Given the description of an element on the screen output the (x, y) to click on. 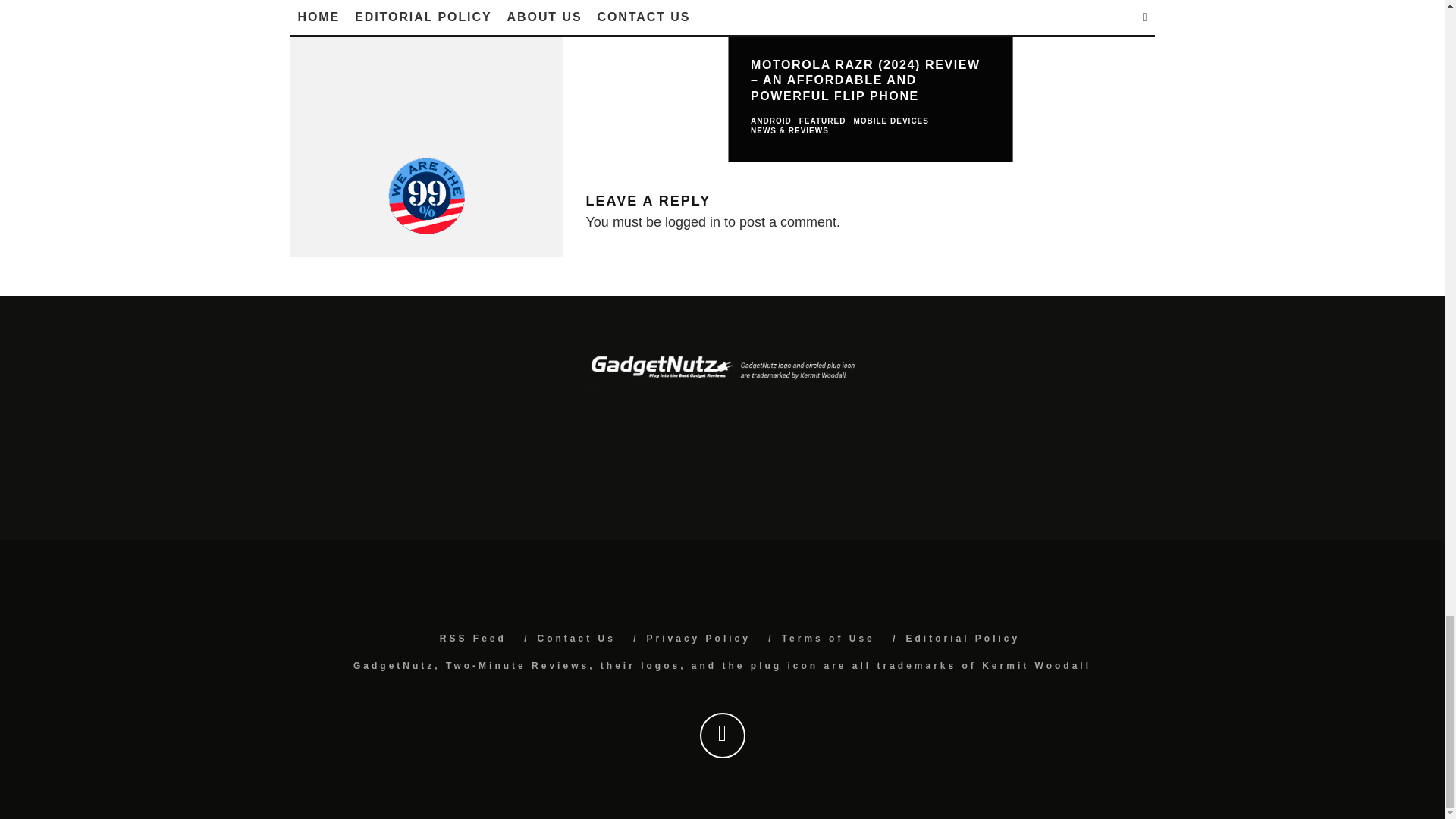
Logo (721, 372)
logged in (692, 222)
FEATURED (822, 121)
MOBILE DEVICES (890, 121)
ANDROID (771, 121)
